Given the description of an element on the screen output the (x, y) to click on. 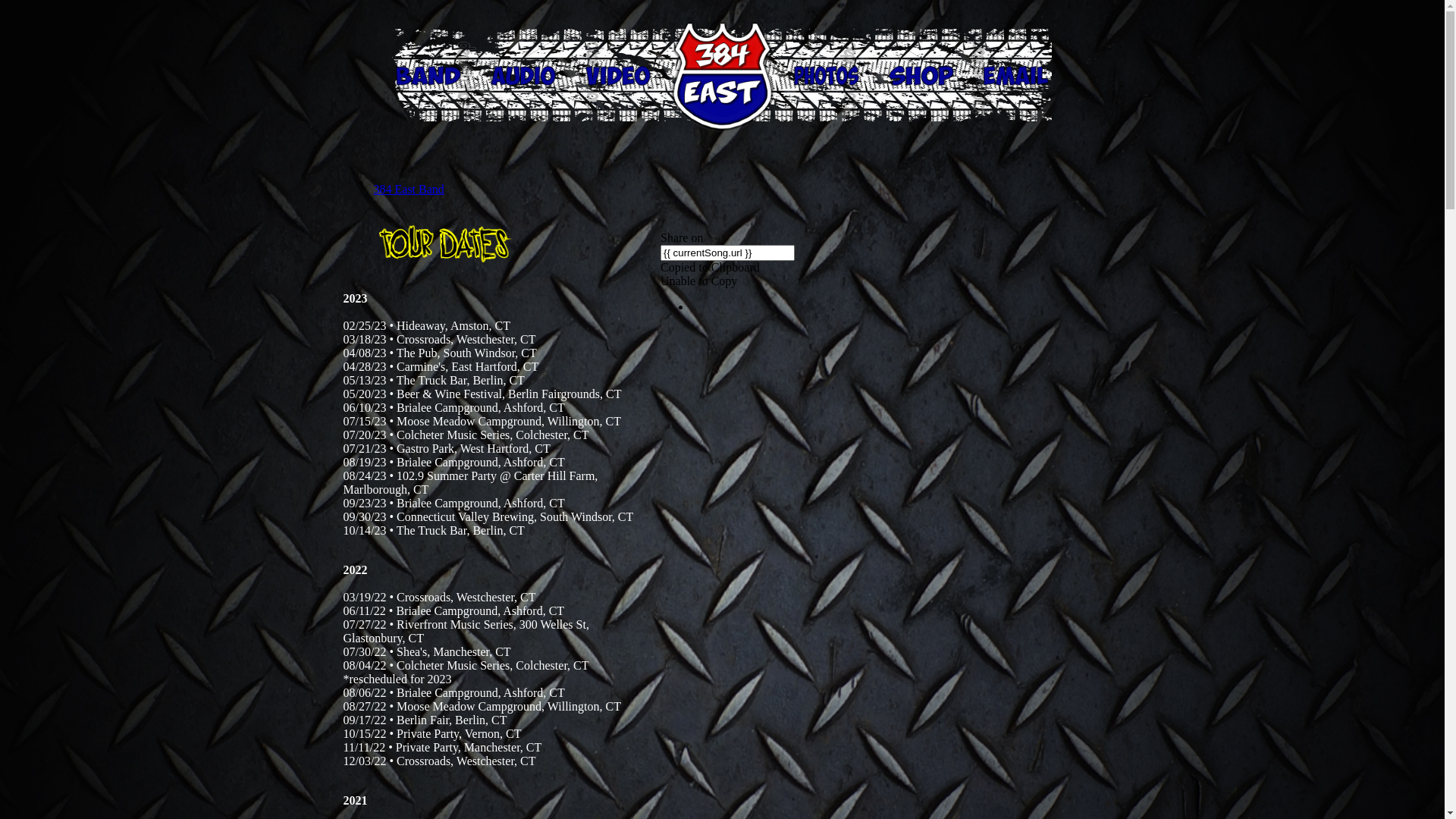
384 East Band Element type: text (408, 188)
